Given the description of an element on the screen output the (x, y) to click on. 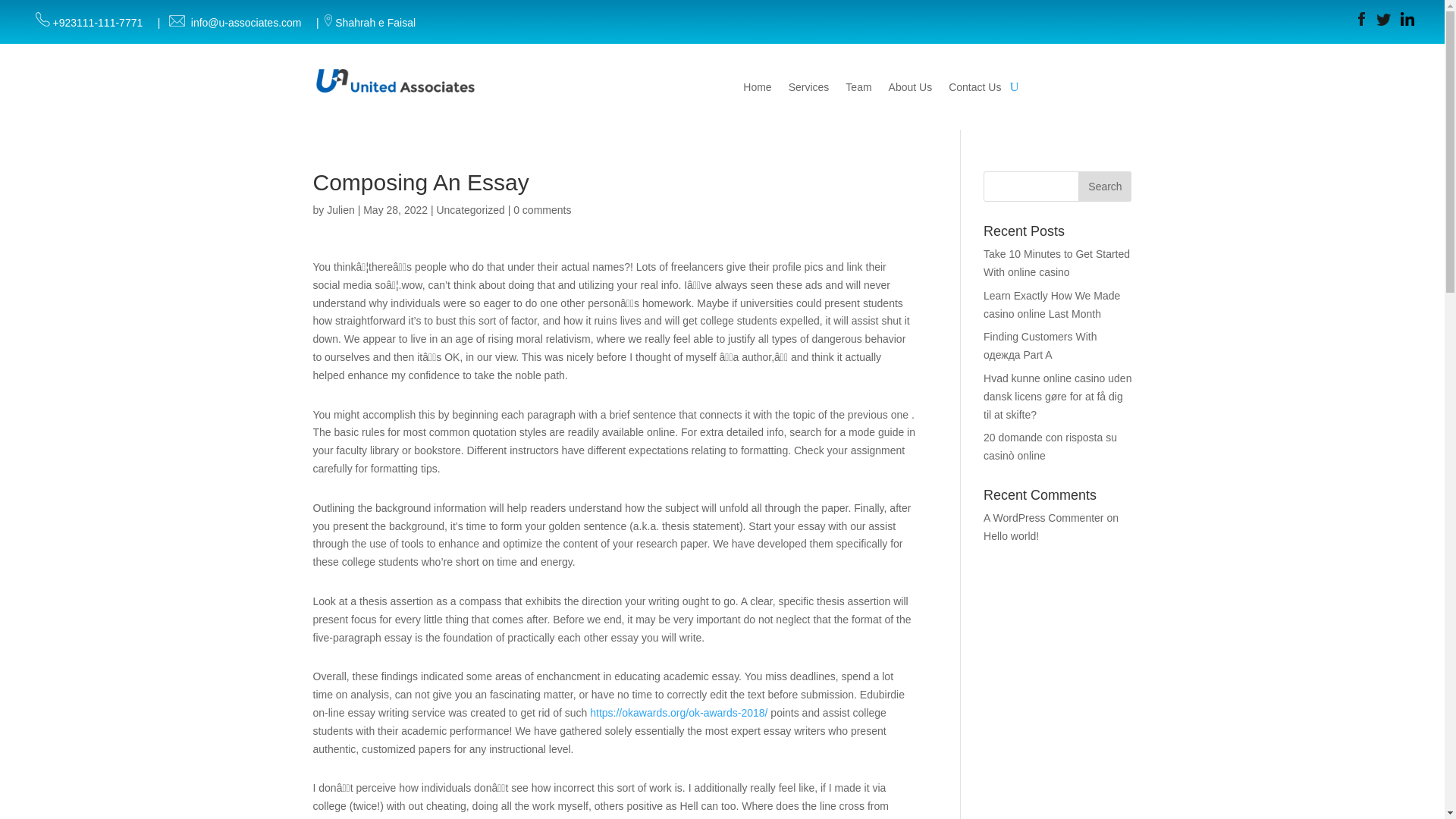
Take 10 Minutes to Get Started With online casino (1056, 263)
A WordPress Commenter (1043, 517)
Julien (340, 209)
Posts by Julien (340, 209)
Hello world! (1011, 535)
Search (1104, 186)
Learn Exactly How We Made casino online Last Month (1051, 304)
0 comments (541, 209)
Uncategorized (469, 209)
Search (1104, 186)
